Given the description of an element on the screen output the (x, y) to click on. 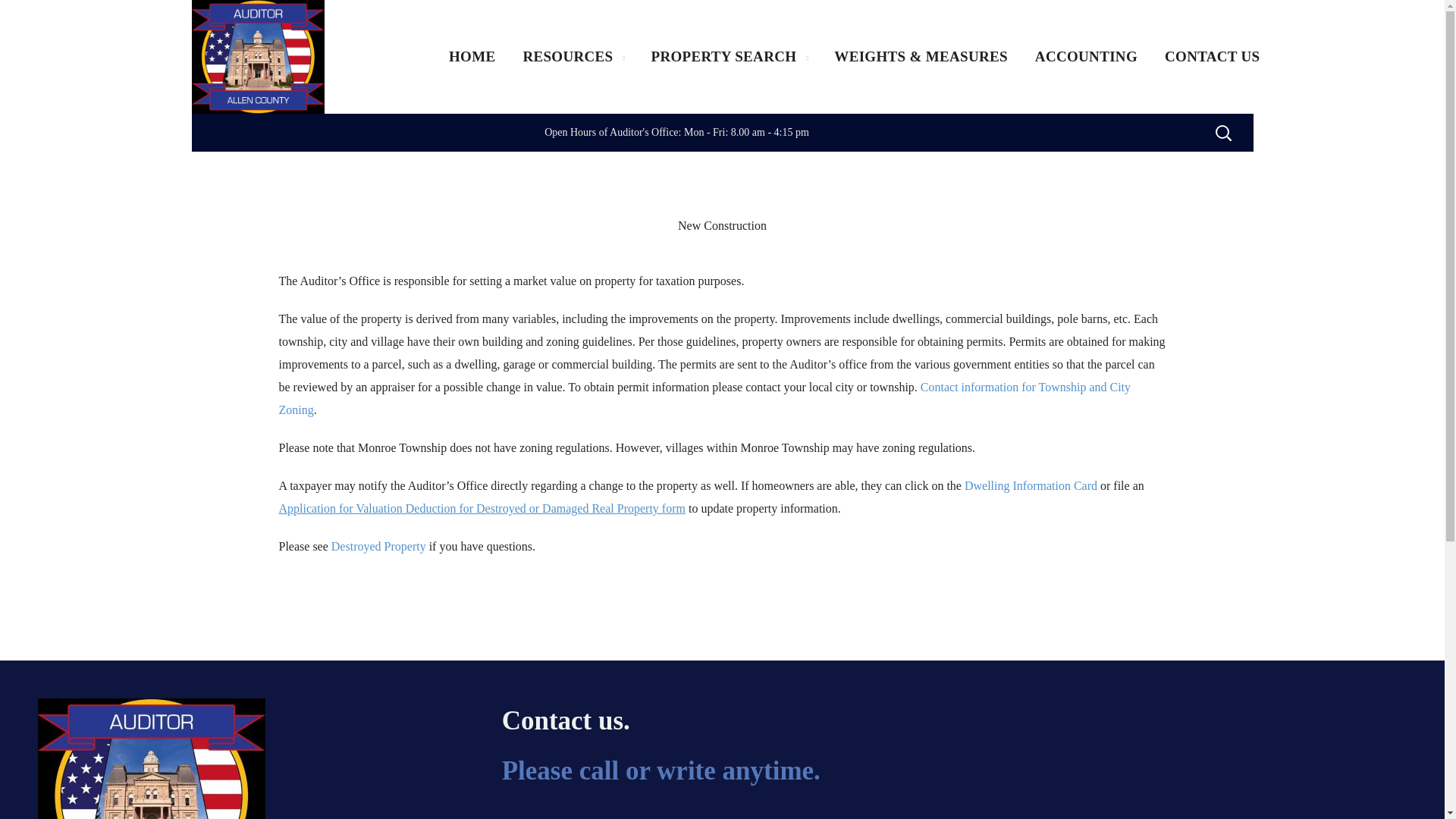
PROPERTY SEARCH (729, 56)
ACCOUNTING (1086, 56)
CONTACT US (1212, 56)
Search (1183, 189)
RESOURCES (572, 56)
